Given the description of an element on the screen output the (x, y) to click on. 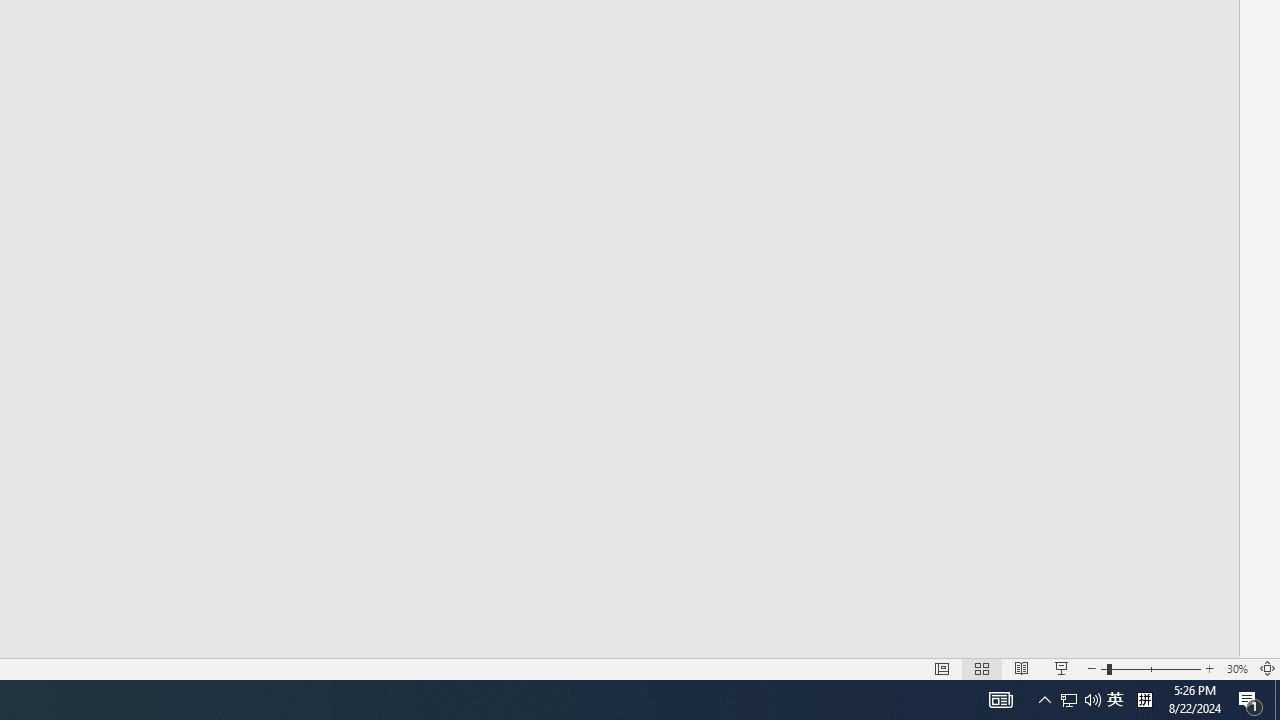
Zoom 30% (1236, 668)
